Given the description of an element on the screen output the (x, y) to click on. 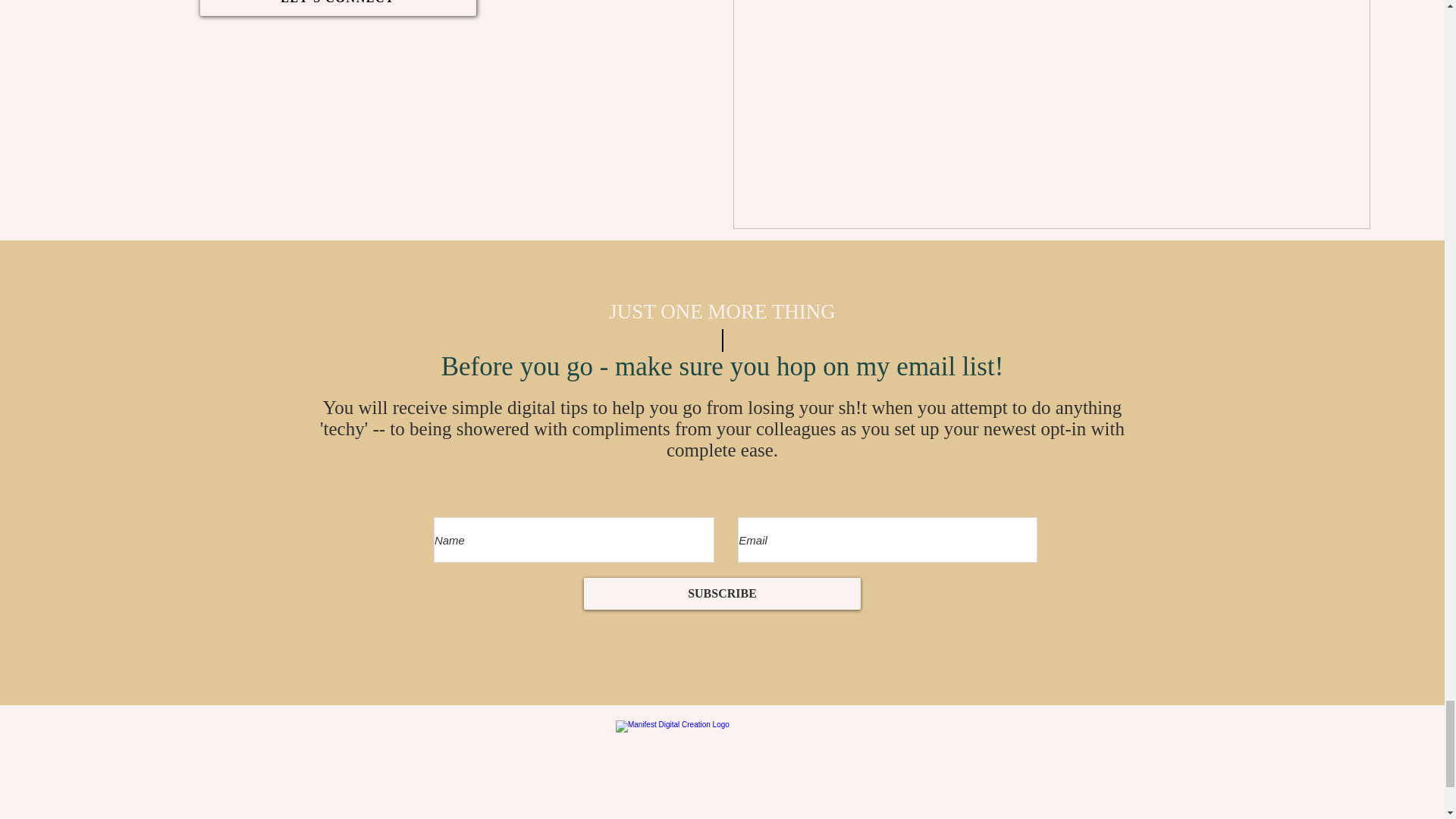
LET'S CONNECT (338, 7)
SUBSCRIBE (721, 593)
